Given the description of an element on the screen output the (x, y) to click on. 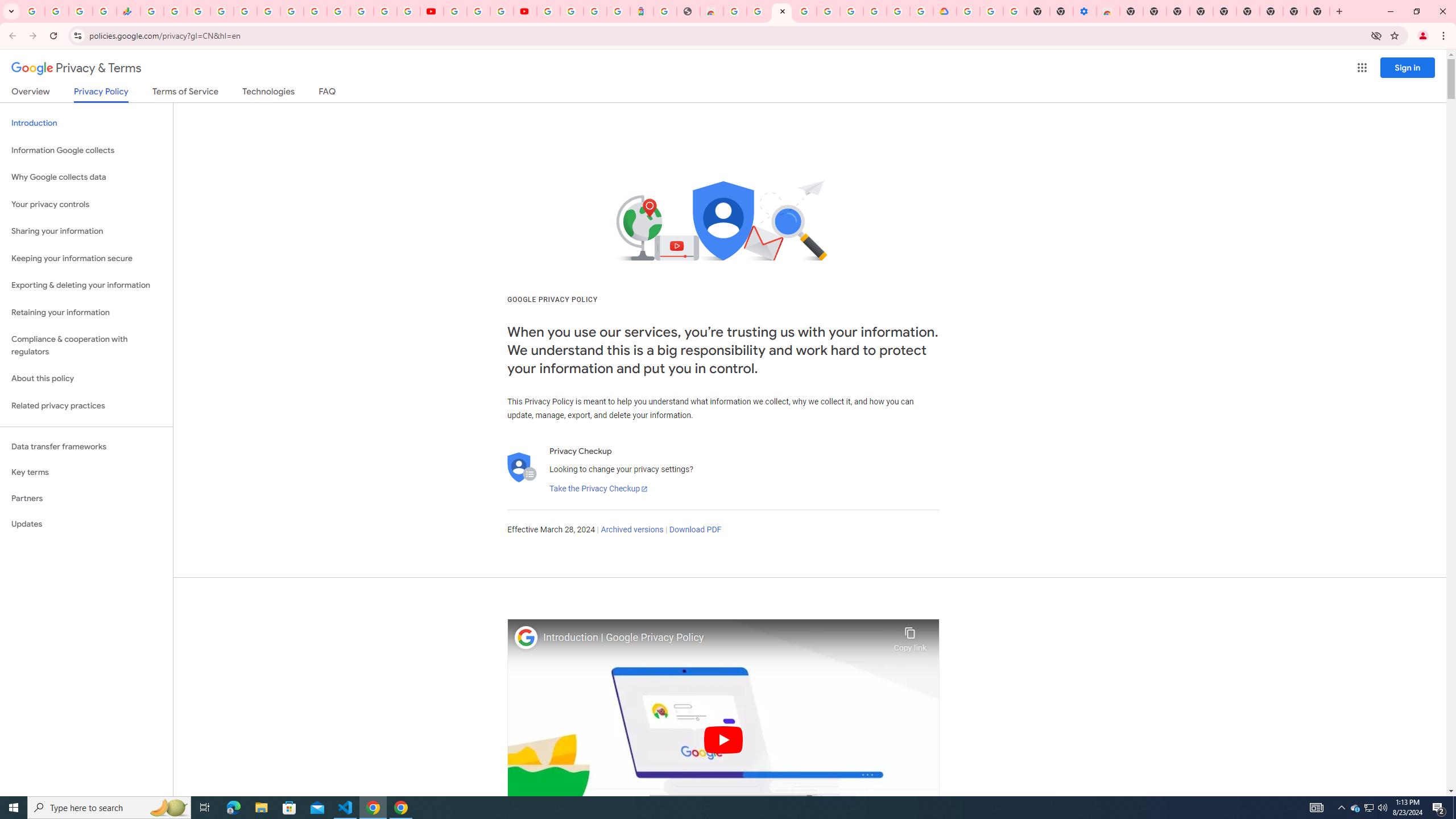
New Tab (1318, 11)
YouTube (314, 11)
Google Account Help (850, 11)
Exporting & deleting your information (86, 284)
Key terms (86, 472)
Chrome Web Store - Household (711, 11)
Related privacy practices (86, 405)
Settings - Accessibility (1085, 11)
Create your Google Account (757, 11)
